Given the description of an element on the screen output the (x, y) to click on. 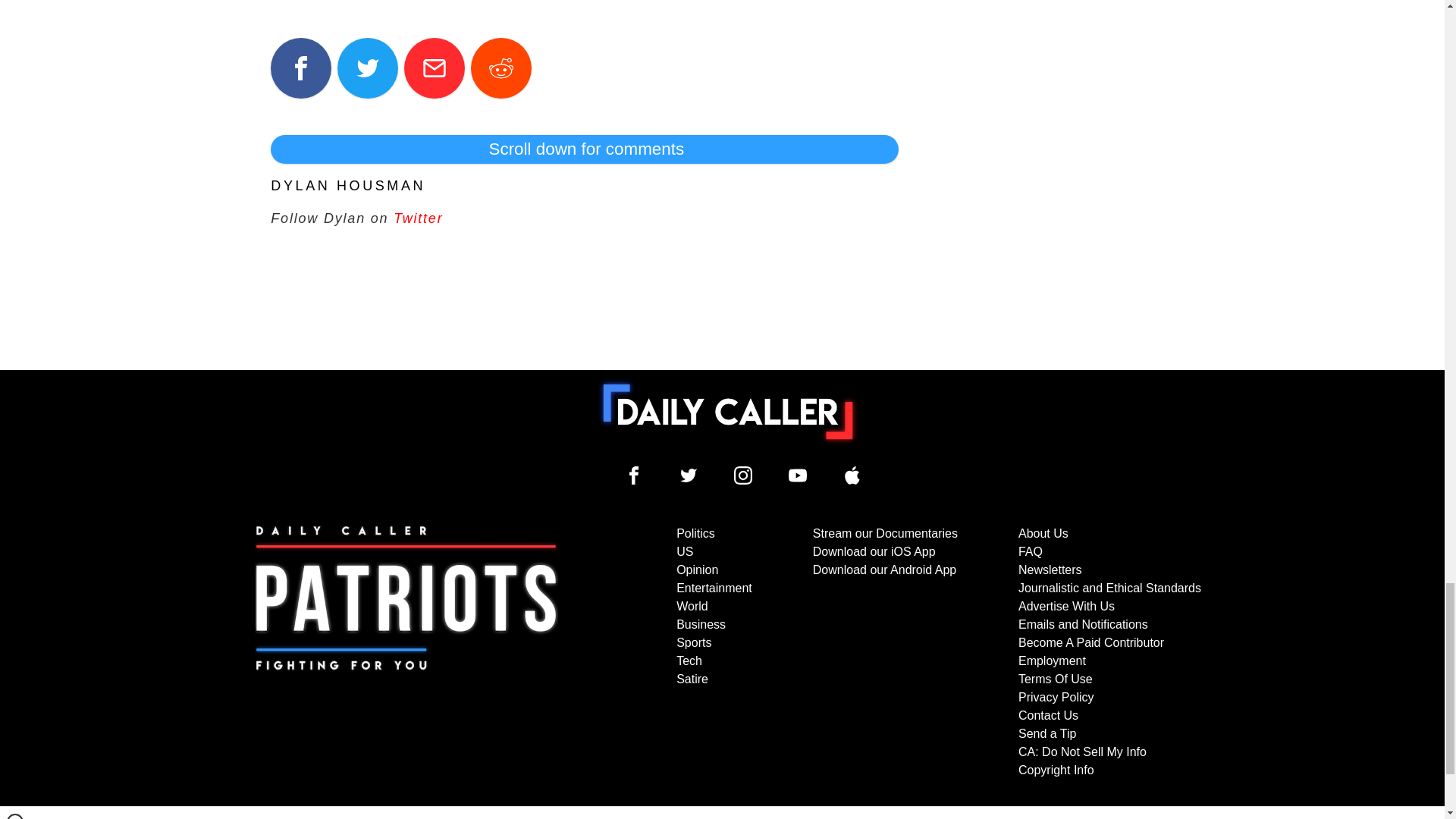
Daily Caller Facebook (633, 475)
Daily Caller Twitter (688, 475)
Subscribe to The Daily Caller (405, 651)
Daily Caller Instagram (742, 475)
To home page (727, 411)
Scroll down for comments (584, 149)
Daily Caller YouTube (797, 475)
Daily Caller YouTube (852, 475)
